Given the description of an element on the screen output the (x, y) to click on. 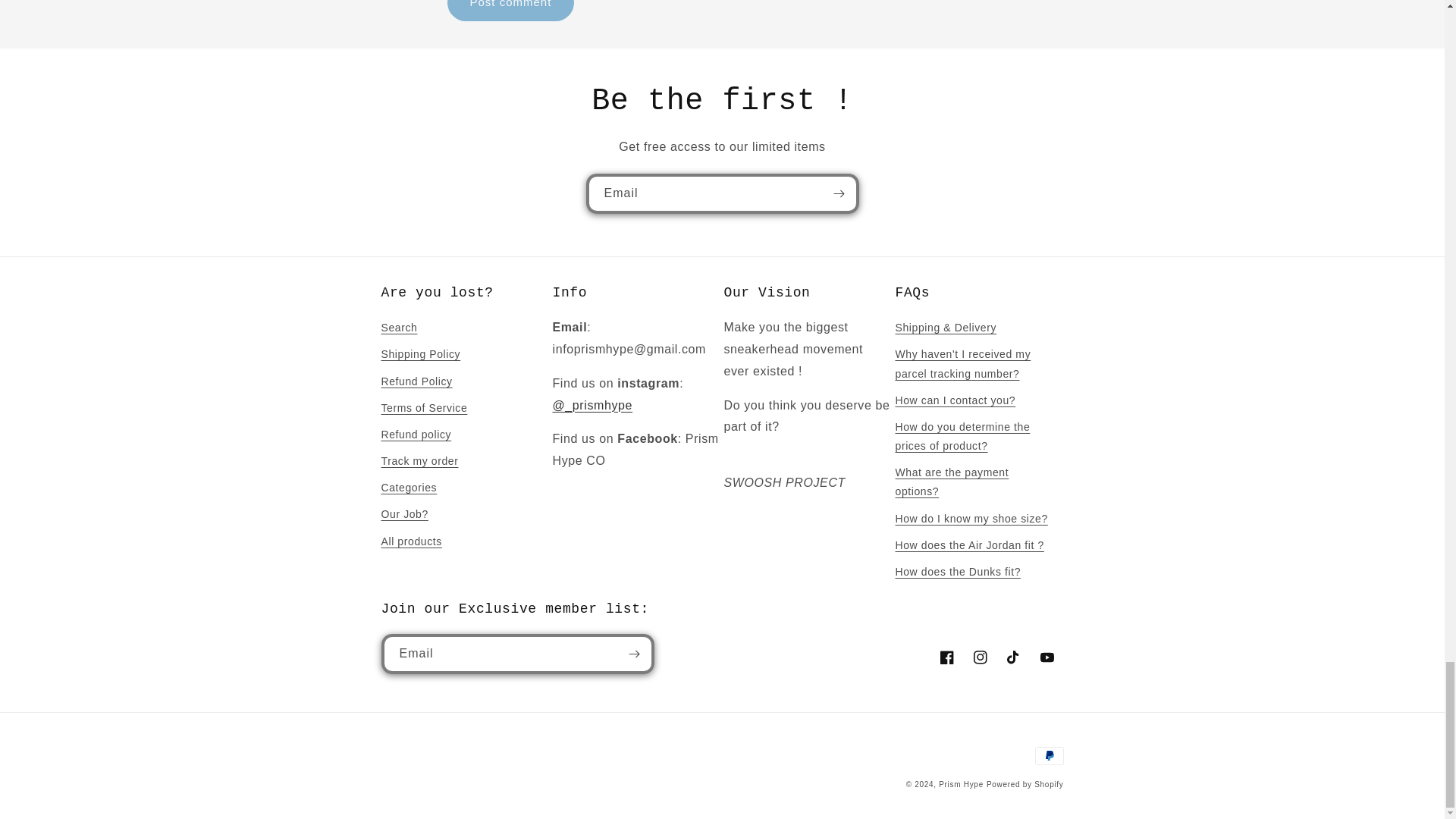
Post comment (510, 10)
Shipping Policy (420, 354)
Refund Policy (415, 381)
Refund policy (415, 434)
Track my order (419, 461)
Terms of Service (423, 407)
Search (398, 329)
Post comment (510, 10)
